Given the description of an element on the screen output the (x, y) to click on. 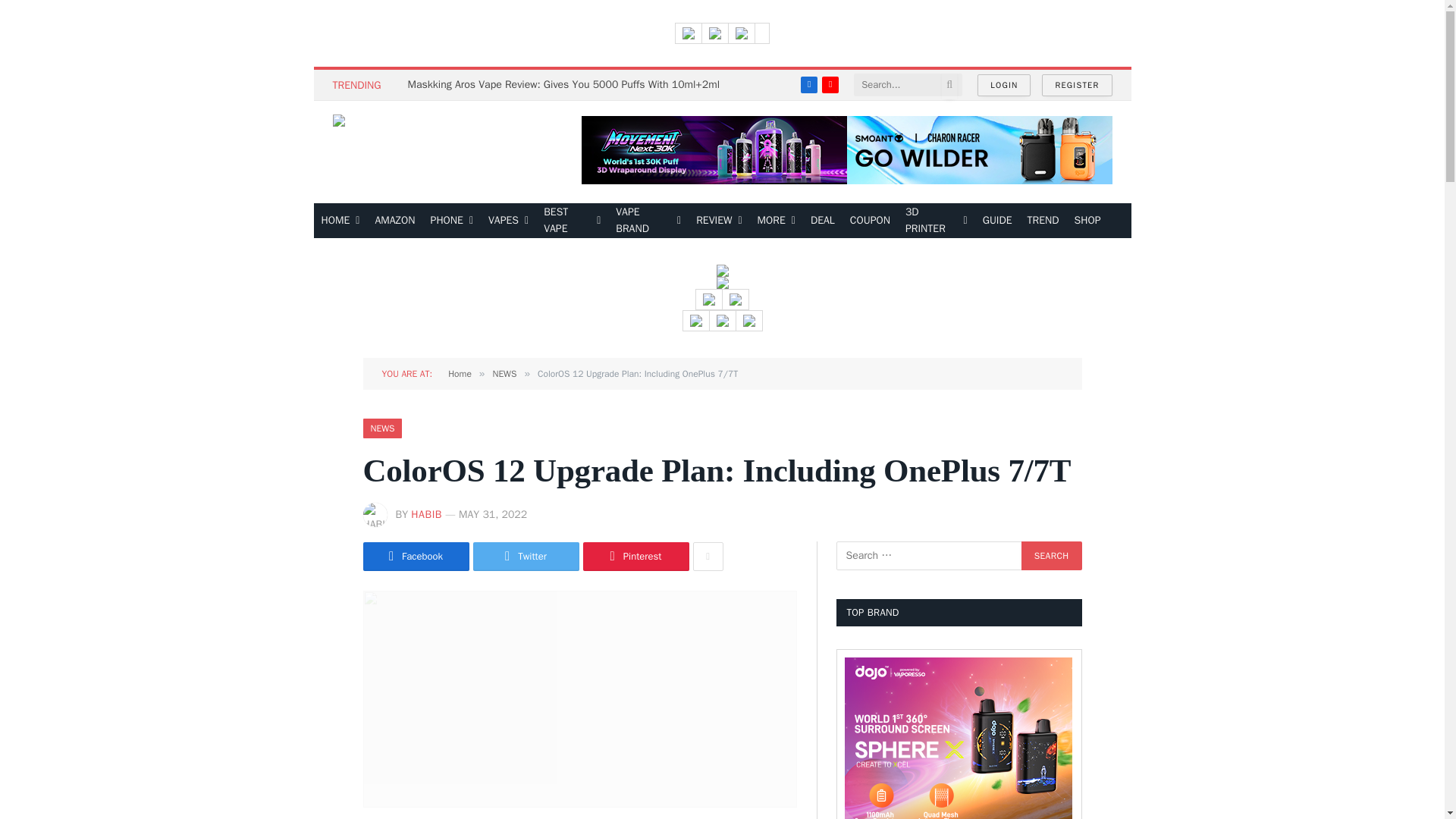
Facebook (808, 84)
Share on Twitter (526, 556)
Search (1051, 555)
Show More Social Sharing (708, 556)
Posts by Habib (426, 513)
REGISTER (1077, 85)
HOME (341, 220)
PHONE (451, 220)
Search (1051, 555)
AMAZON (394, 220)
